Given the description of an element on the screen output the (x, y) to click on. 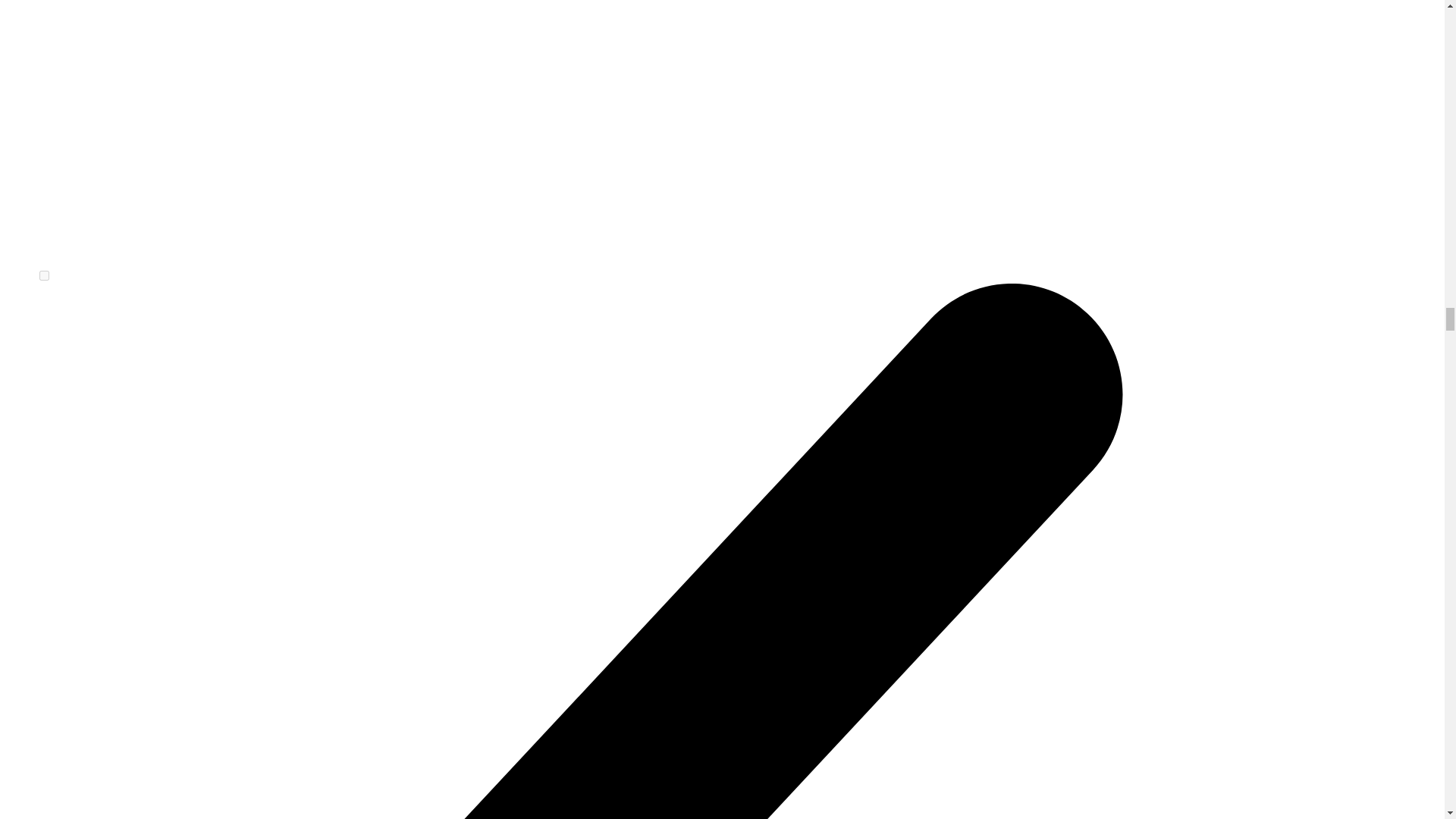
on (44, 275)
